Given the description of an element on the screen output the (x, y) to click on. 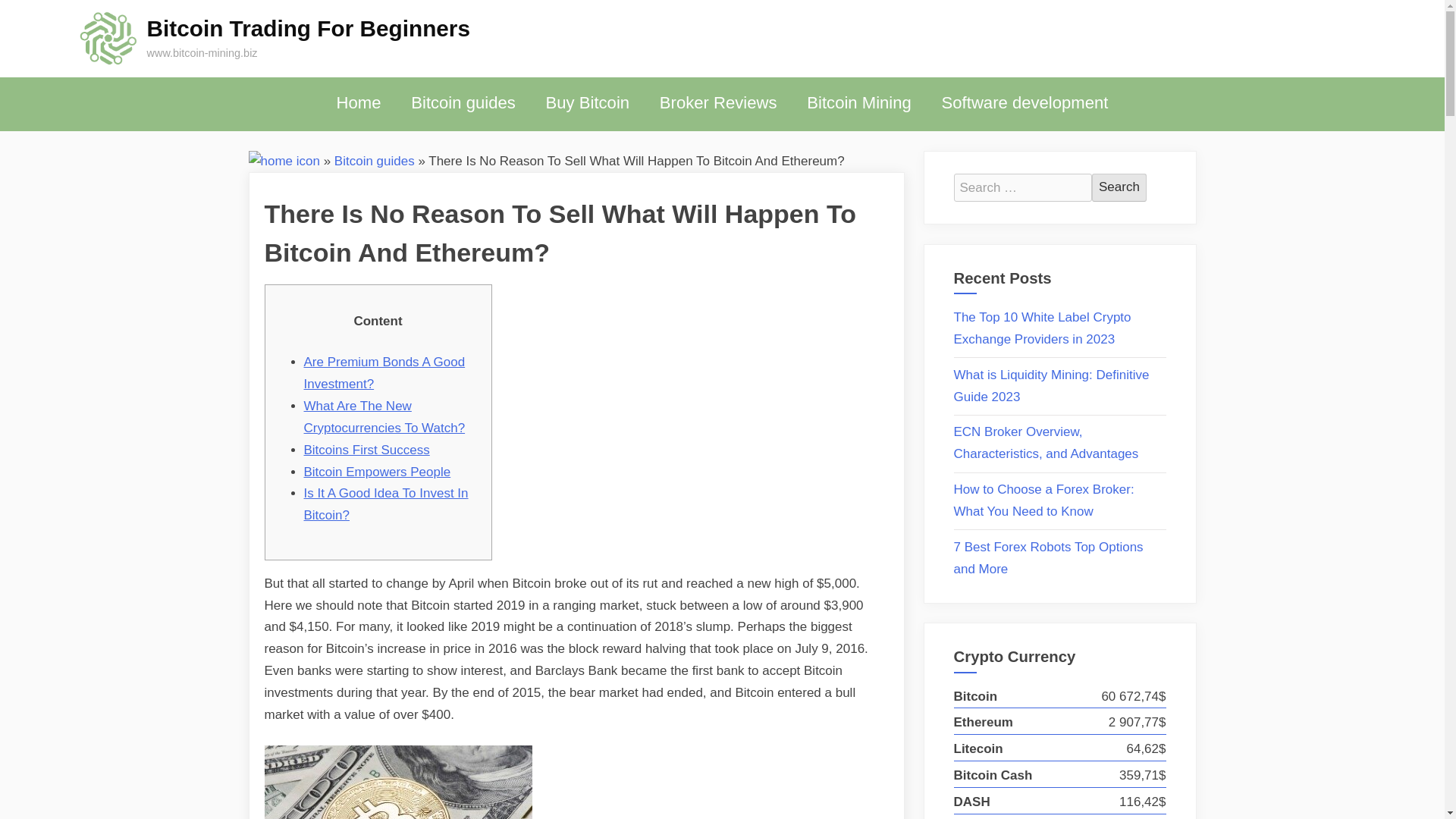
Home (358, 103)
Bitcoin Trading For Beginners (308, 27)
Are Premium Bonds A Good Investment? (383, 372)
Bitcoins First Success (365, 450)
Search (1119, 186)
Bitcoin guides (374, 160)
Bitcoin Empowers People (375, 472)
Broker Reviews (718, 103)
Bitcoin guides (462, 103)
Buy Bitcoin (587, 103)
Is It A Good Idea To Invest In Bitcoin? (384, 504)
Bitcoin Mining (858, 103)
Software development (1024, 103)
What Are The New Cryptocurrencies To Watch? (383, 416)
Search (1119, 186)
